Given the description of an element on the screen output the (x, y) to click on. 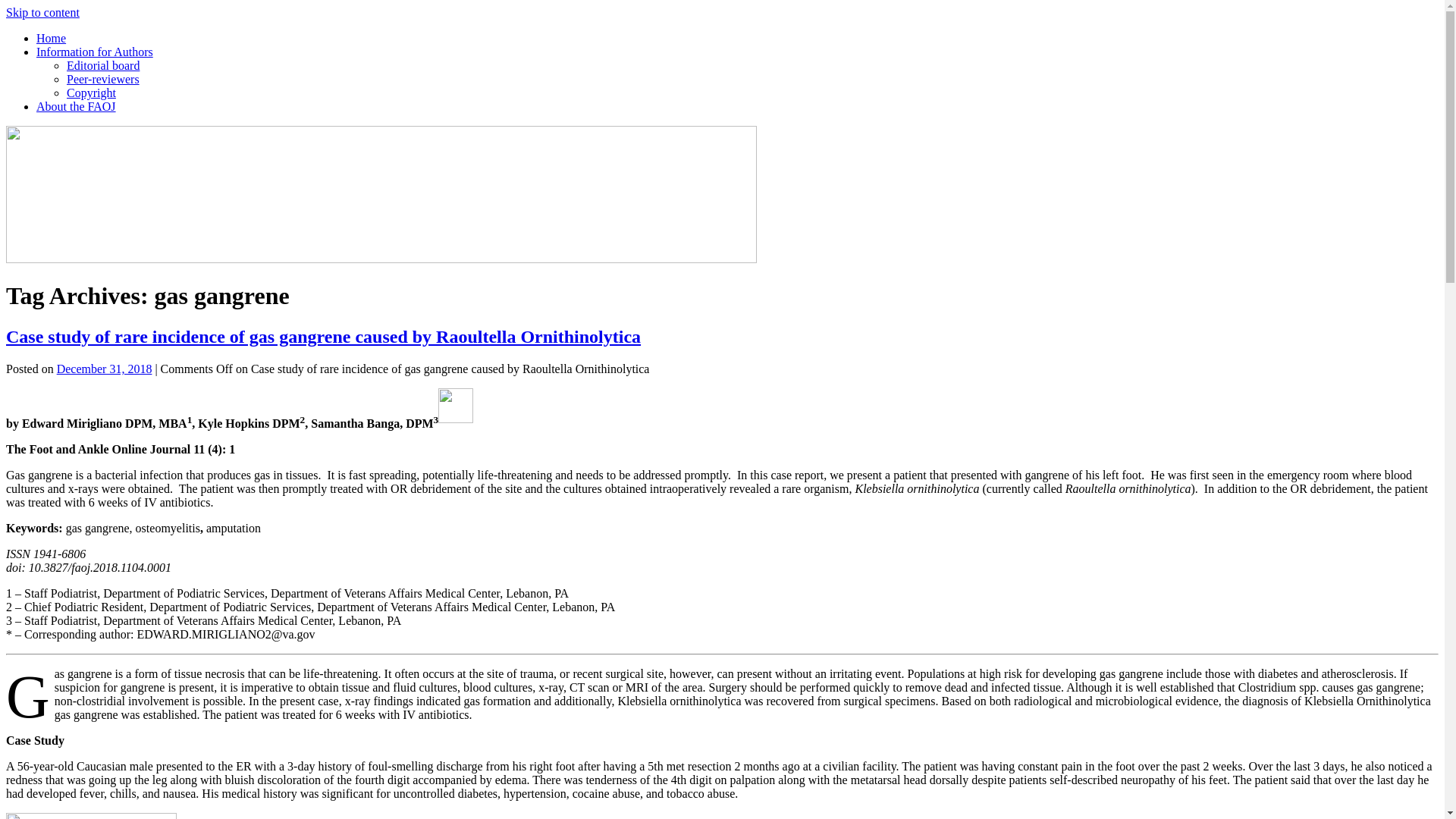
Home (50, 38)
December 31, 2018 (104, 368)
About the FAOJ (76, 106)
Copyright (91, 92)
Peer-reviewers (102, 78)
Skip to content (42, 11)
Editorial board (102, 65)
12:01 am (104, 368)
Skip to content (42, 11)
Information for Authors (94, 51)
